Given the description of an element on the screen output the (x, y) to click on. 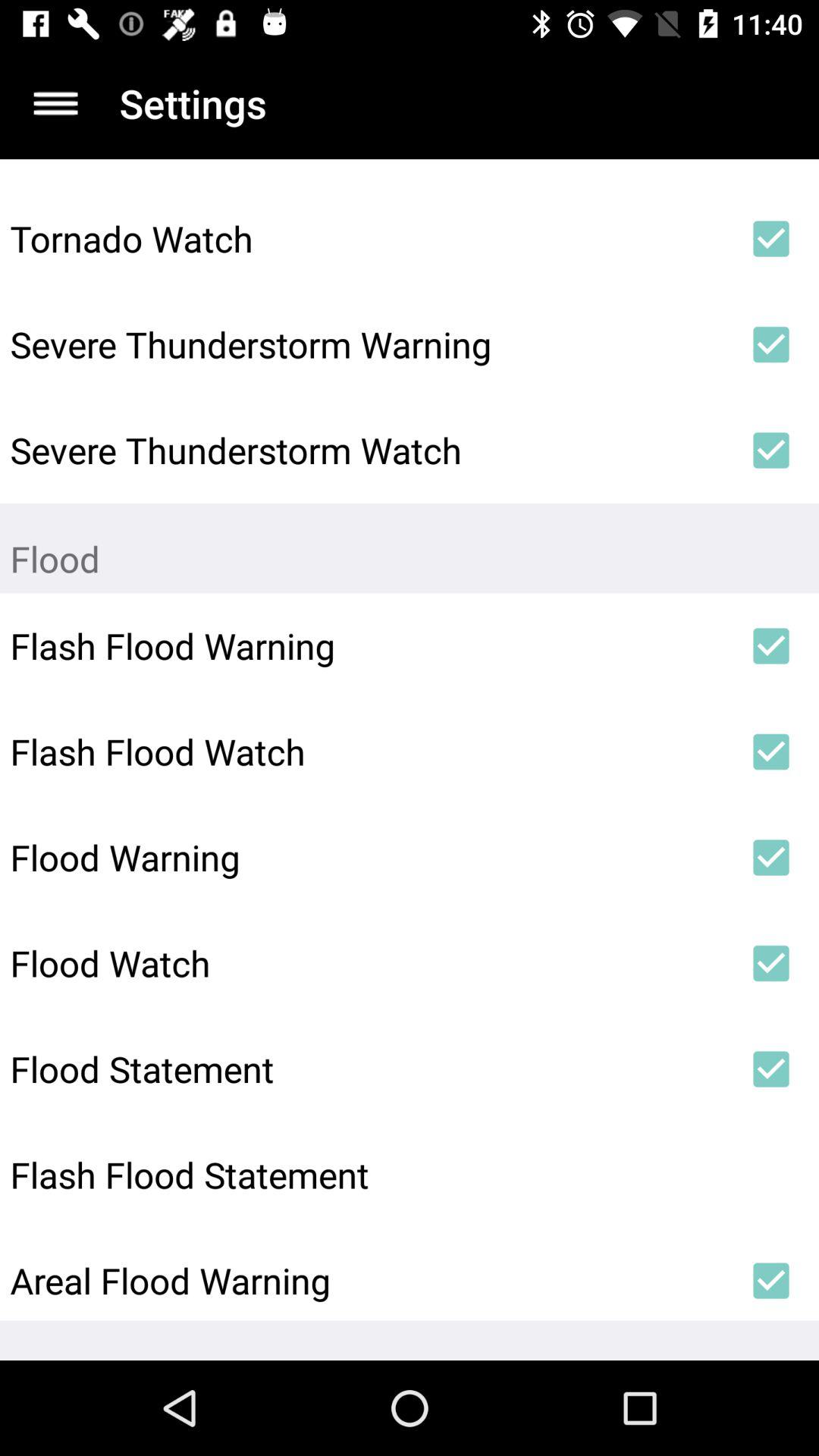
select the icon next to flood watch item (771, 963)
